Given the description of an element on the screen output the (x, y) to click on. 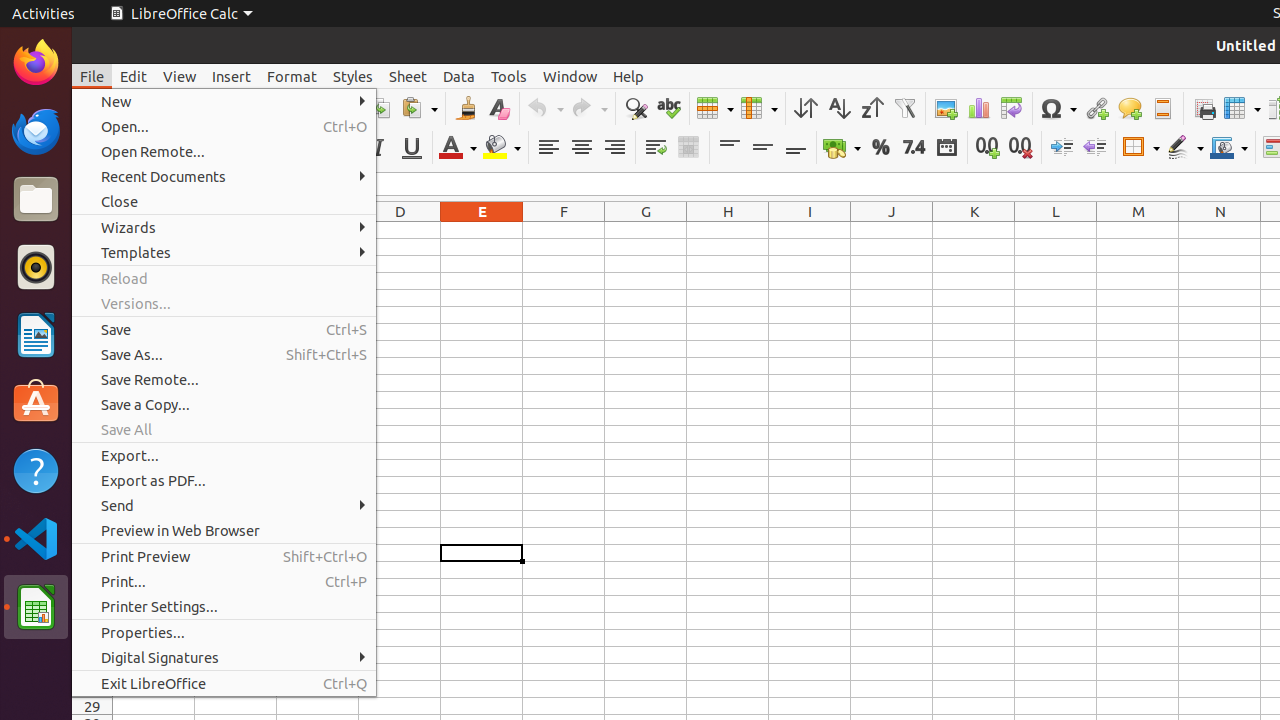
Sort Descending Element type: push-button (871, 108)
J1 Element type: table-cell (892, 230)
Spelling Element type: push-button (668, 108)
Sort Element type: push-button (805, 108)
L1 Element type: table-cell (1056, 230)
